Given the description of an element on the screen output the (x, y) to click on. 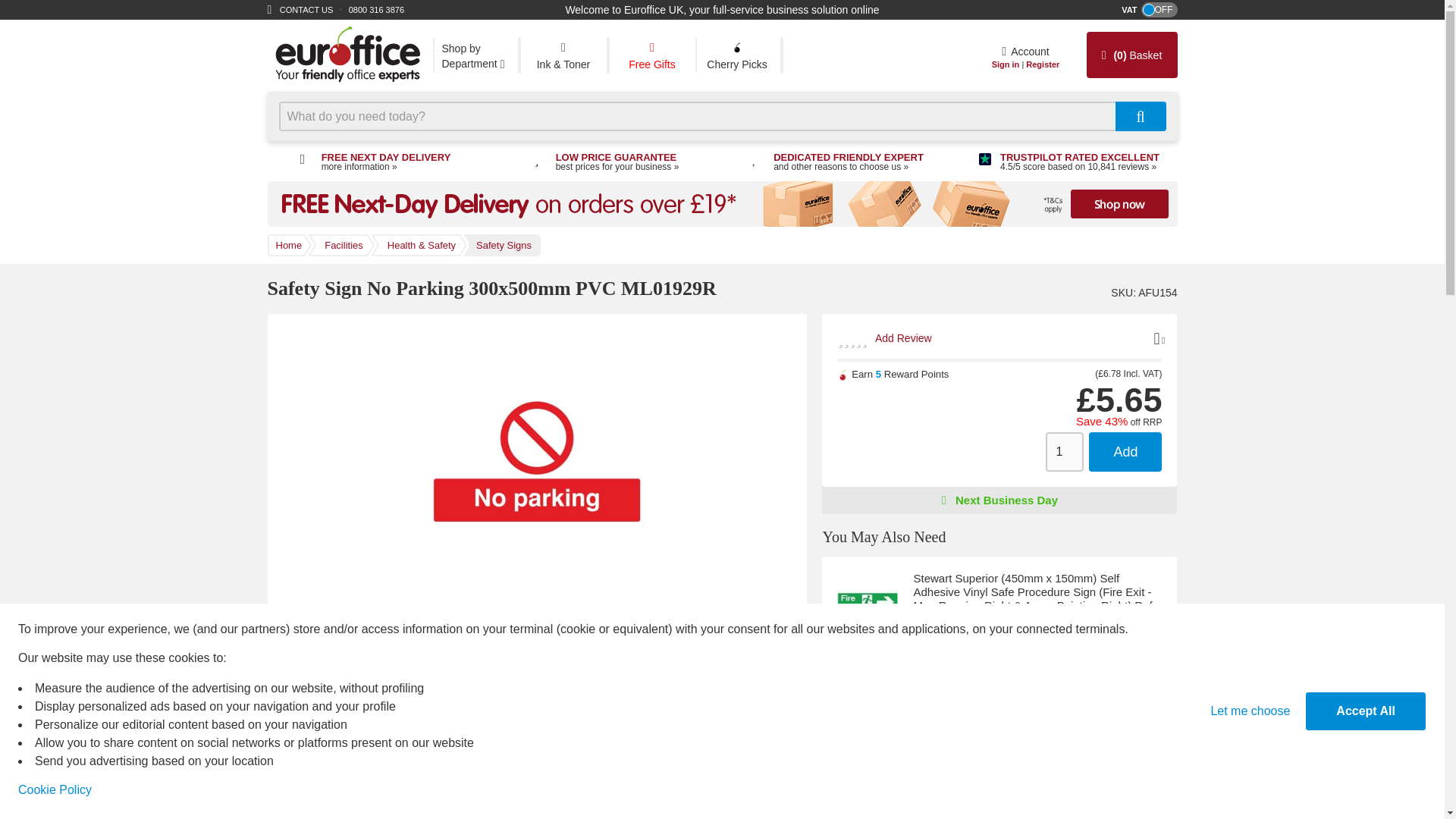
Add To Favourites (1155, 333)
Find out how to contact us (306, 9)
Shop by Department (474, 55)
Cherry Picks (736, 55)
Accept All (1365, 711)
0800 316 3876 (376, 9)
Stock-Keeping Unit (1121, 292)
CONTACT US (306, 9)
Home (346, 55)
0800 316 3876 (376, 9)
1 (1064, 451)
Value Added Tax (1150, 373)
Cherry Picks (736, 55)
Let me choose (1249, 711)
1 (1097, 691)
